Given the description of an element on the screen output the (x, y) to click on. 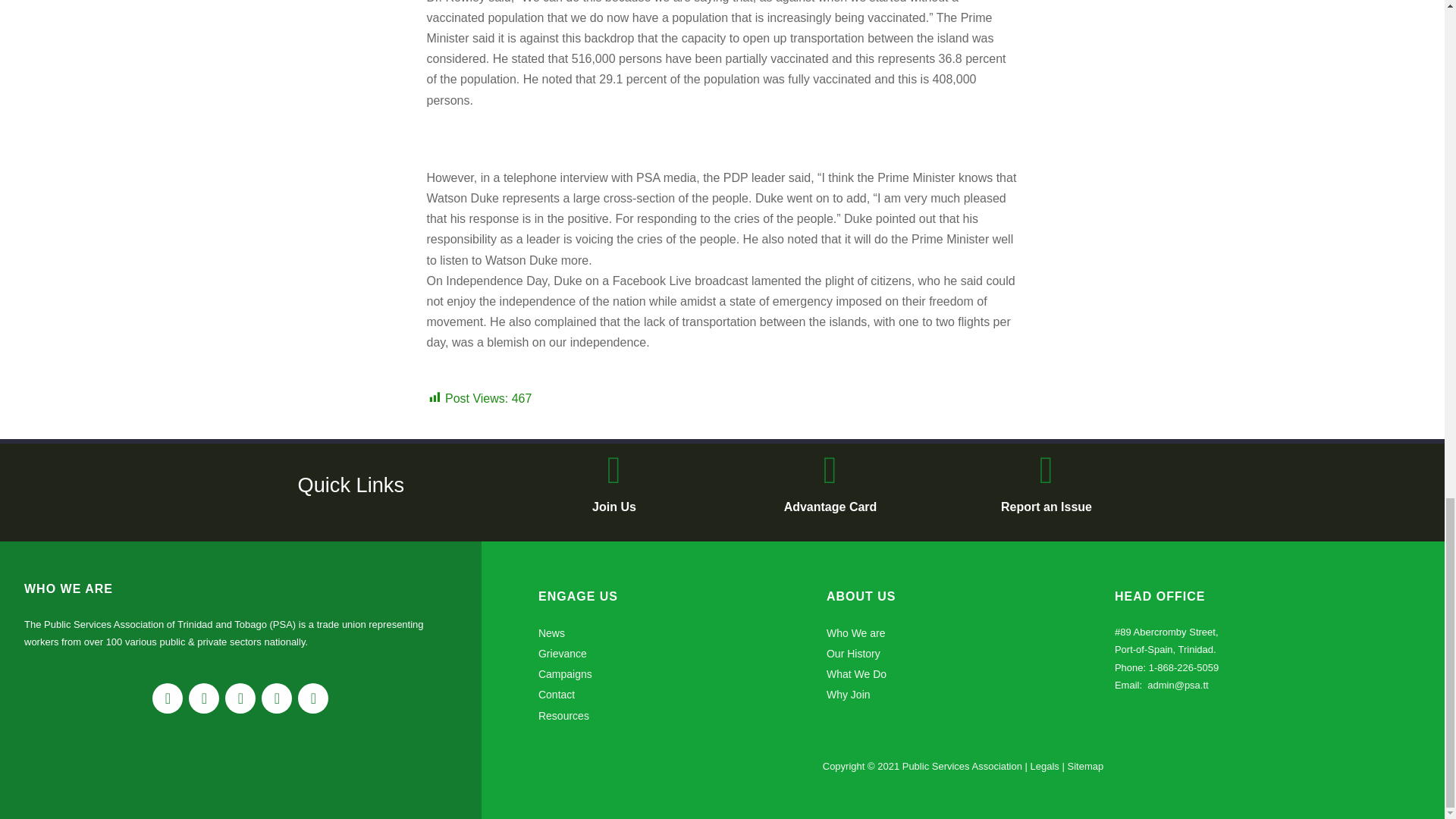
What We Do (856, 674)
Facebook (167, 698)
Advantage Card (830, 506)
Resources (563, 715)
Our History (853, 653)
Contact (556, 694)
Youtube (240, 698)
Instagram (204, 698)
Grievance (562, 653)
News (551, 633)
Mail-bulk (277, 698)
Campaigns (565, 674)
Whatsapp (313, 698)
Join Us (614, 506)
Who We are (856, 633)
